Given the description of an element on the screen output the (x, y) to click on. 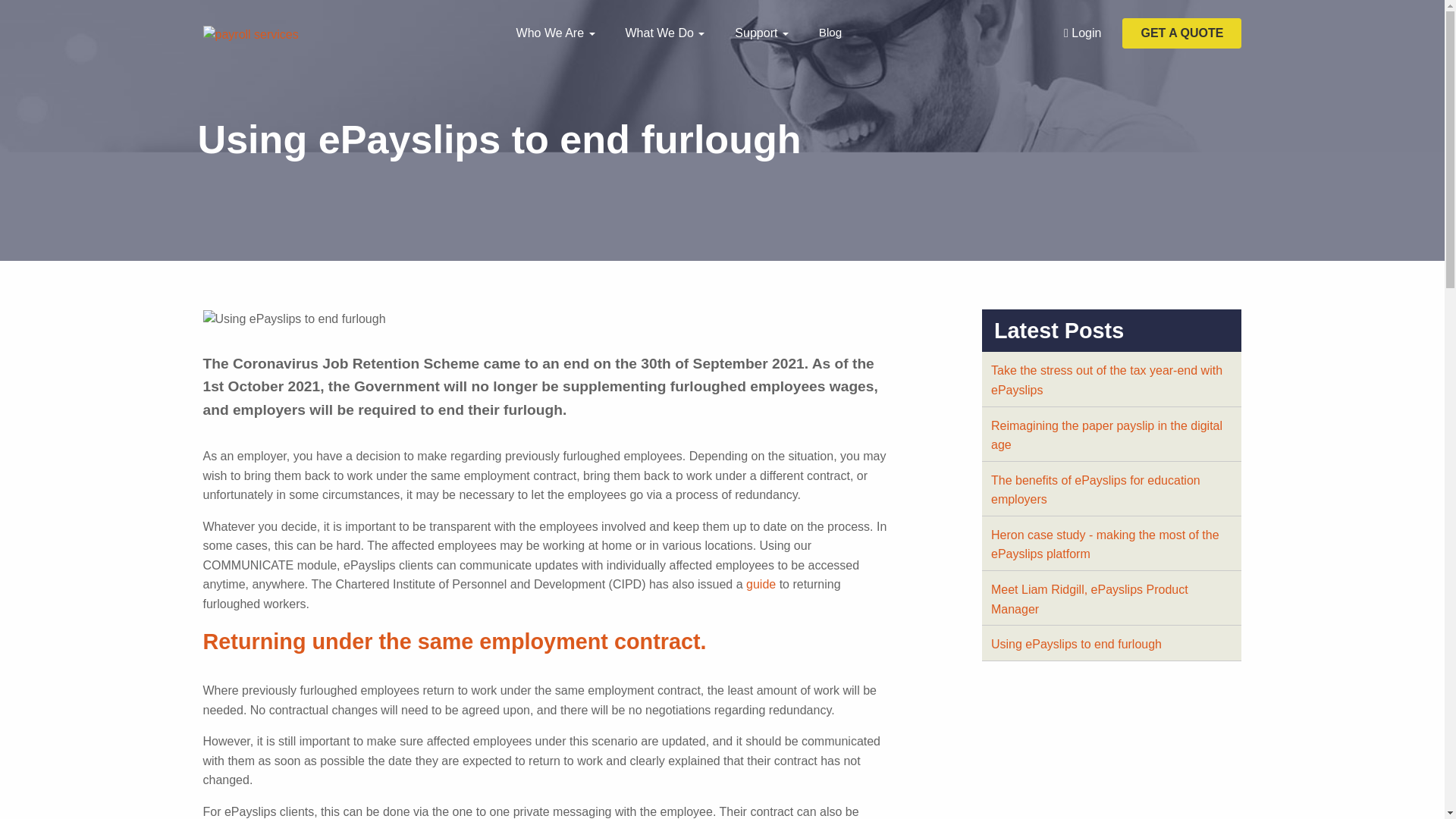
Heron case study - making the most of the ePayslips platform (1105, 544)
guide (760, 584)
Using ePayslips to end furlough (1076, 644)
Meet Liam Ridgill, ePayslips Product Manager (1089, 599)
The benefits of ePayslips for education employers (1095, 490)
Take the stress out of the tax year-end with ePayslips (1107, 379)
Login (1081, 33)
Blog (830, 32)
GET A QUOTE (1181, 33)
Reimagining the paper payslip in the digital age (1107, 434)
